Given the description of an element on the screen output the (x, y) to click on. 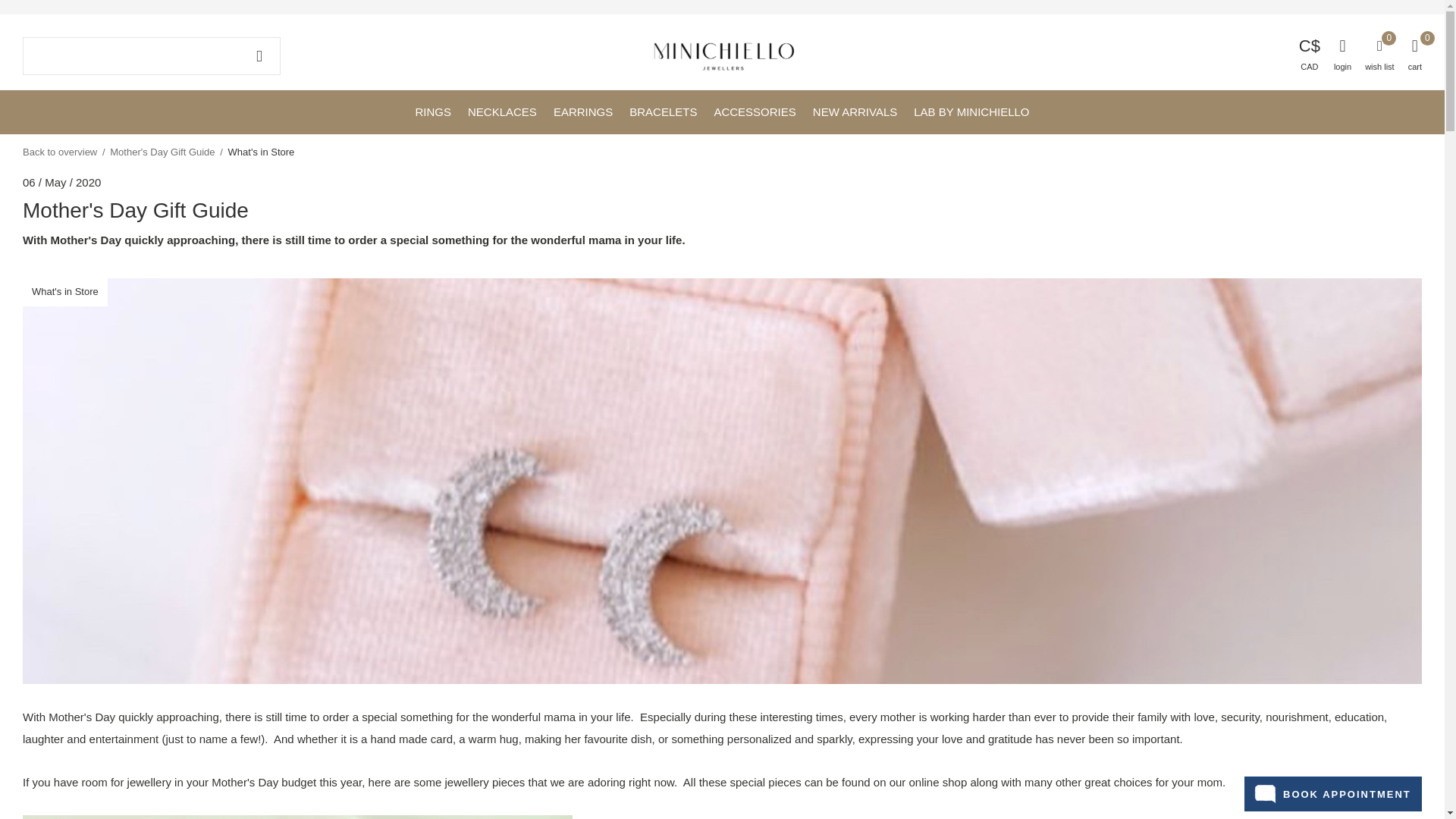
EARRINGS (582, 111)
NEW ARRIVALS (854, 111)
BRACELETS (662, 111)
NECKLACES (502, 111)
LAB BY MINICHIELLO (971, 111)
RINGS (432, 111)
ACCESSORIES (753, 111)
